Given the description of an element on the screen output the (x, y) to click on. 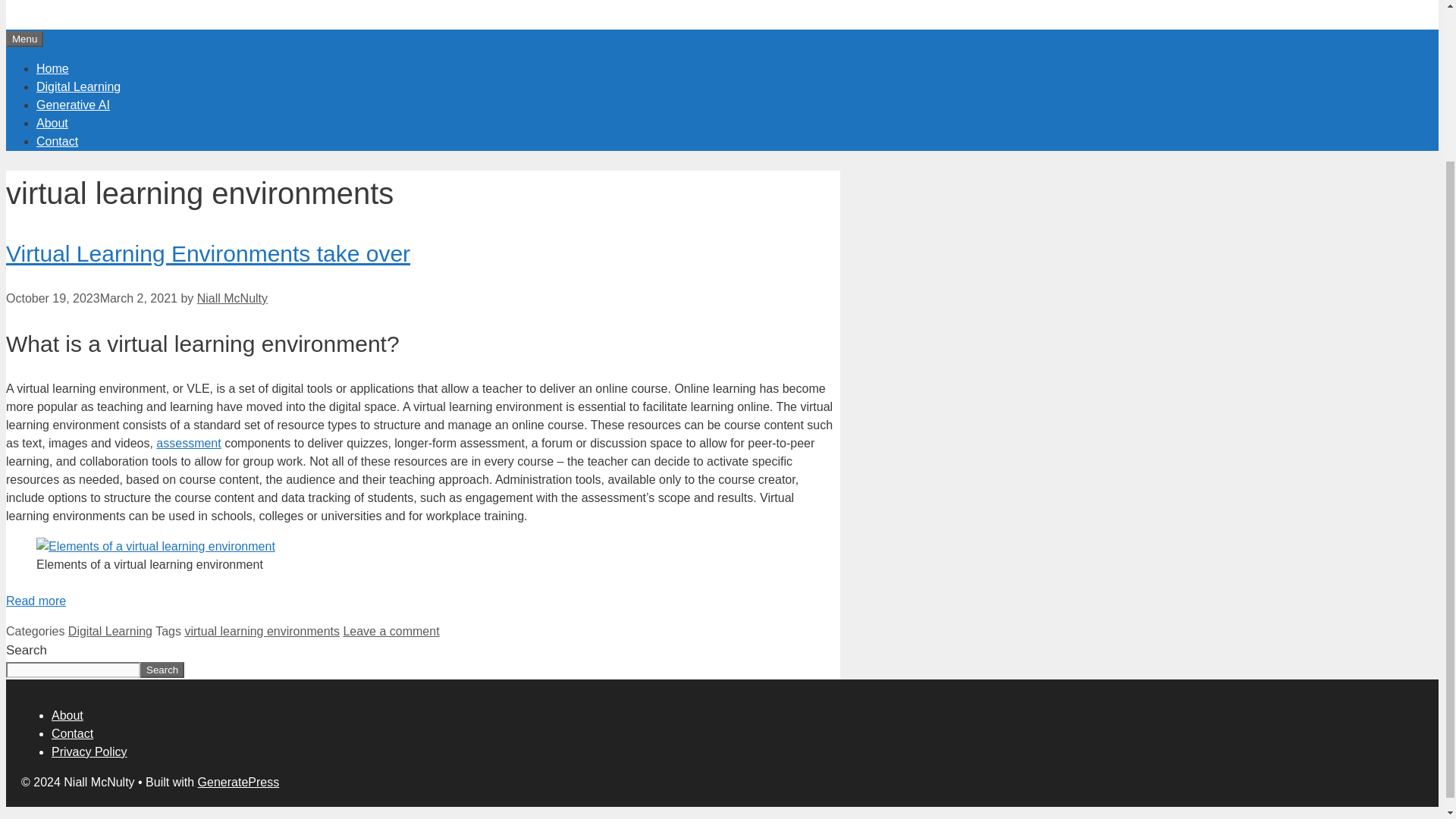
virtual learning environments (261, 631)
Niall McNulty (231, 297)
View all posts by Niall McNulty (231, 297)
Contact (57, 140)
Search (161, 669)
GeneratePress (238, 781)
Menu (24, 38)
Contact (71, 733)
About (52, 122)
Generative AI (73, 103)
Virtual Learning Environments take over (35, 600)
Digital Learning (110, 631)
Read more (35, 600)
Virtual Learning Environments take over (207, 253)
assessment (188, 442)
